Given the description of an element on the screen output the (x, y) to click on. 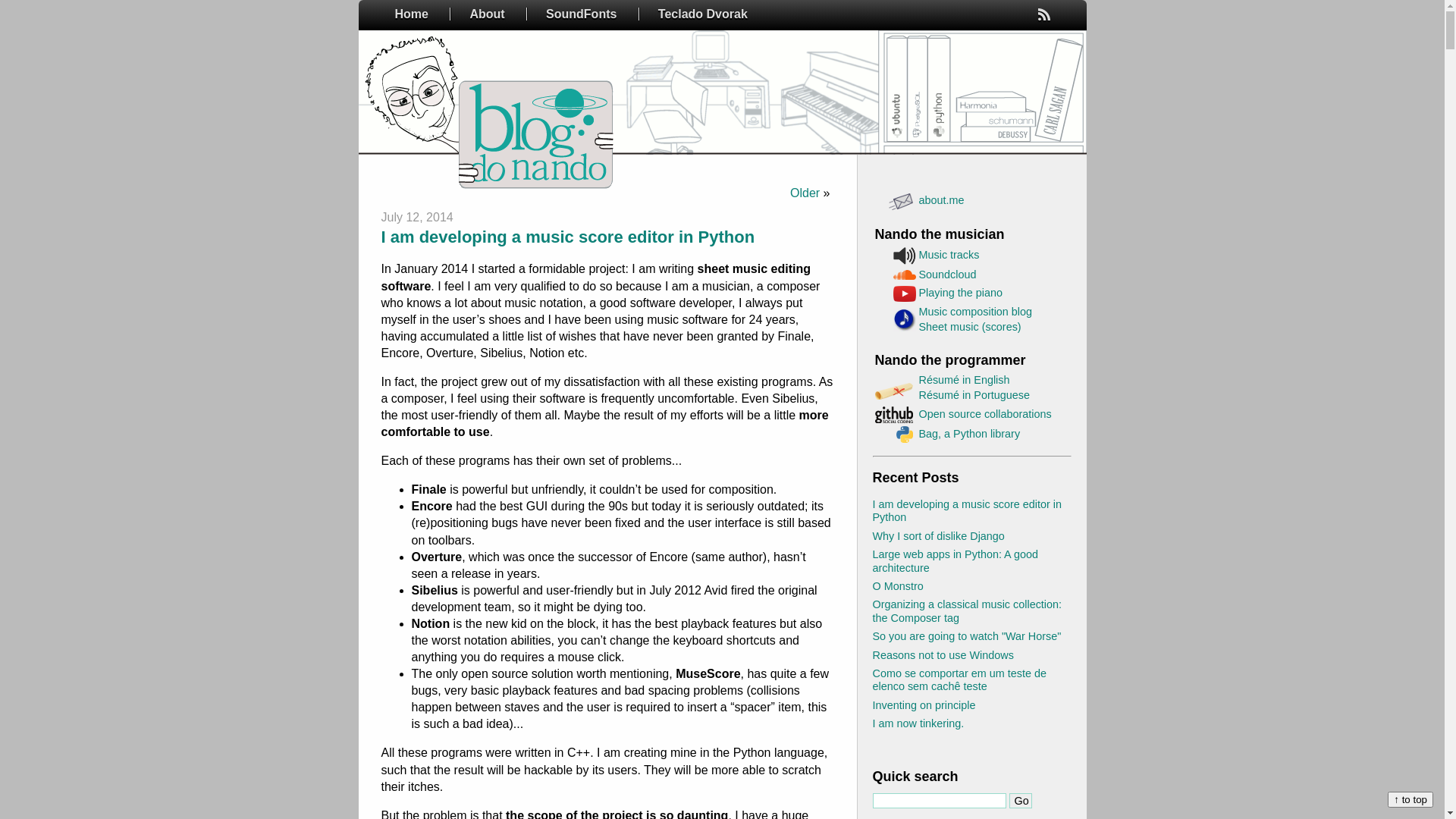
Music tracks Element type: text (949, 254)
about.me Element type: text (941, 200)
Social networks Element type: hover (894, 200)
B Element type: text (1043, 13)
Soundcloud Element type: text (947, 274)
I am now tinkering. Element type: text (917, 723)
Large web apps in Python: A good architecture Element type: text (954, 560)
Go Element type: text (1019, 800)
O Monstro Element type: text (897, 586)
Why I sort of dislike Django Element type: text (938, 536)
Playing the piano Element type: text (960, 292)
Sheet music (scores) Element type: text (970, 326)
Bag, a Python library Element type: text (969, 433)
Older Element type: text (804, 192)
SoundFonts Element type: text (580, 13)
Teclado Dvorak Element type: text (702, 13)
Reasons not to use Windows Element type: text (942, 655)
Organizing a classical music collection: the Composer tag Element type: text (966, 610)
So you are going to watch "War Horse" Element type: text (966, 636)
About Element type: text (486, 13)
I am developing a music score editor in Python Element type: text (567, 236)
Music composition blog Element type: text (975, 311)
Inventing on principle Element type: text (923, 705)
Home Element type: text (410, 13)
I am developing a music score editor in Python Element type: text (966, 510)
Open source collaborations Element type: text (985, 413)
